Given the description of an element on the screen output the (x, y) to click on. 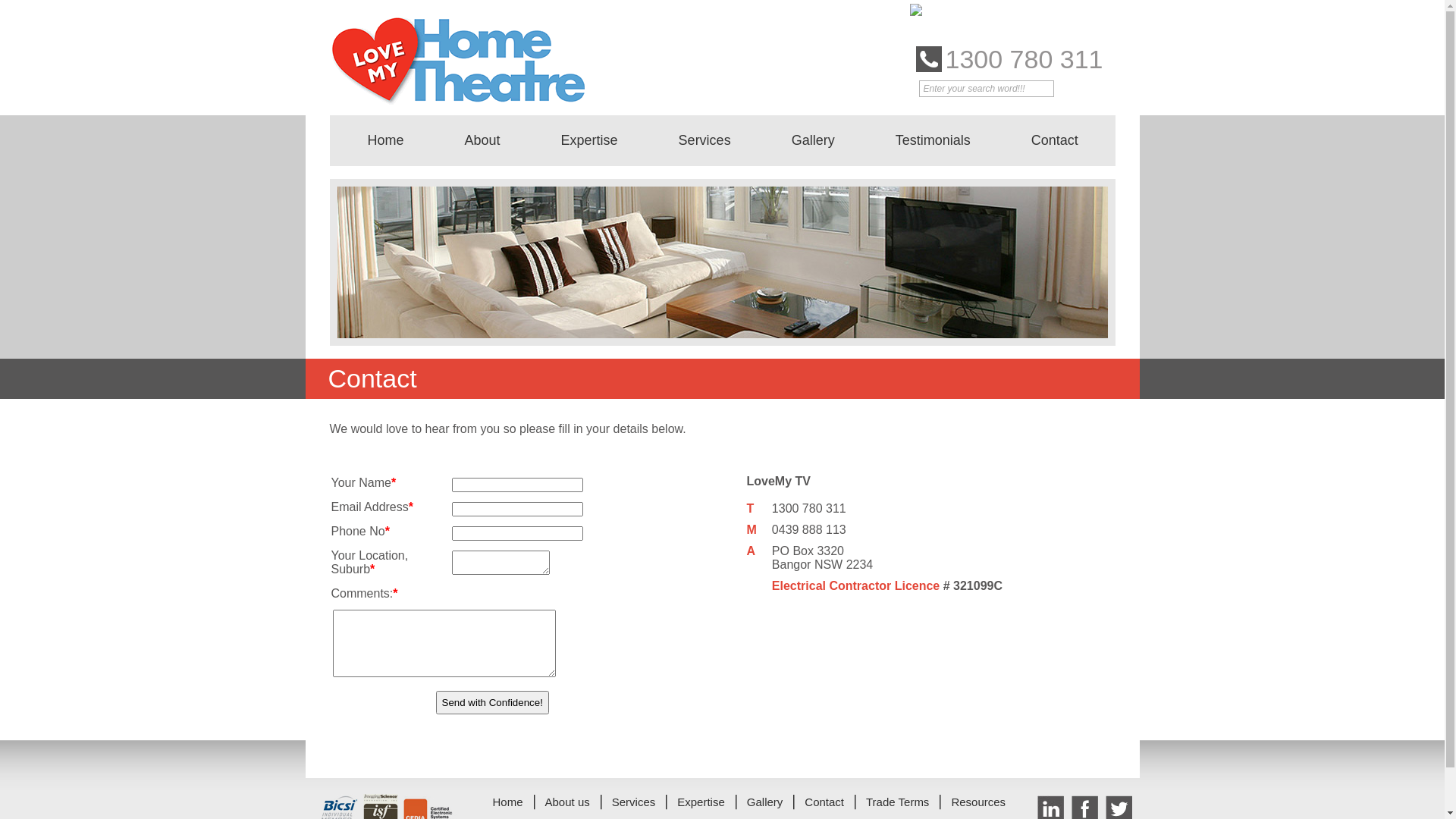
About us Element type: text (567, 801)
Expertise Element type: text (700, 801)
Resources Element type: text (977, 801)
Contact Element type: text (824, 801)
About Element type: text (482, 140)
Trade Terms Element type: text (897, 801)
Send with Confidence! Element type: text (491, 702)
Testimonials Element type: text (933, 140)
Home Element type: text (507, 801)
Gallery Element type: text (813, 140)
Your Location, Suburb Element type: hover (500, 562)
Home Element type: text (384, 140)
Gallery Element type: text (764, 801)
Expertise Element type: text (589, 140)
Your Name Element type: hover (517, 484)
Contact Element type: text (1054, 140)
Services Element type: text (633, 801)
Services Element type: text (704, 140)
